Given the description of an element on the screen output the (x, y) to click on. 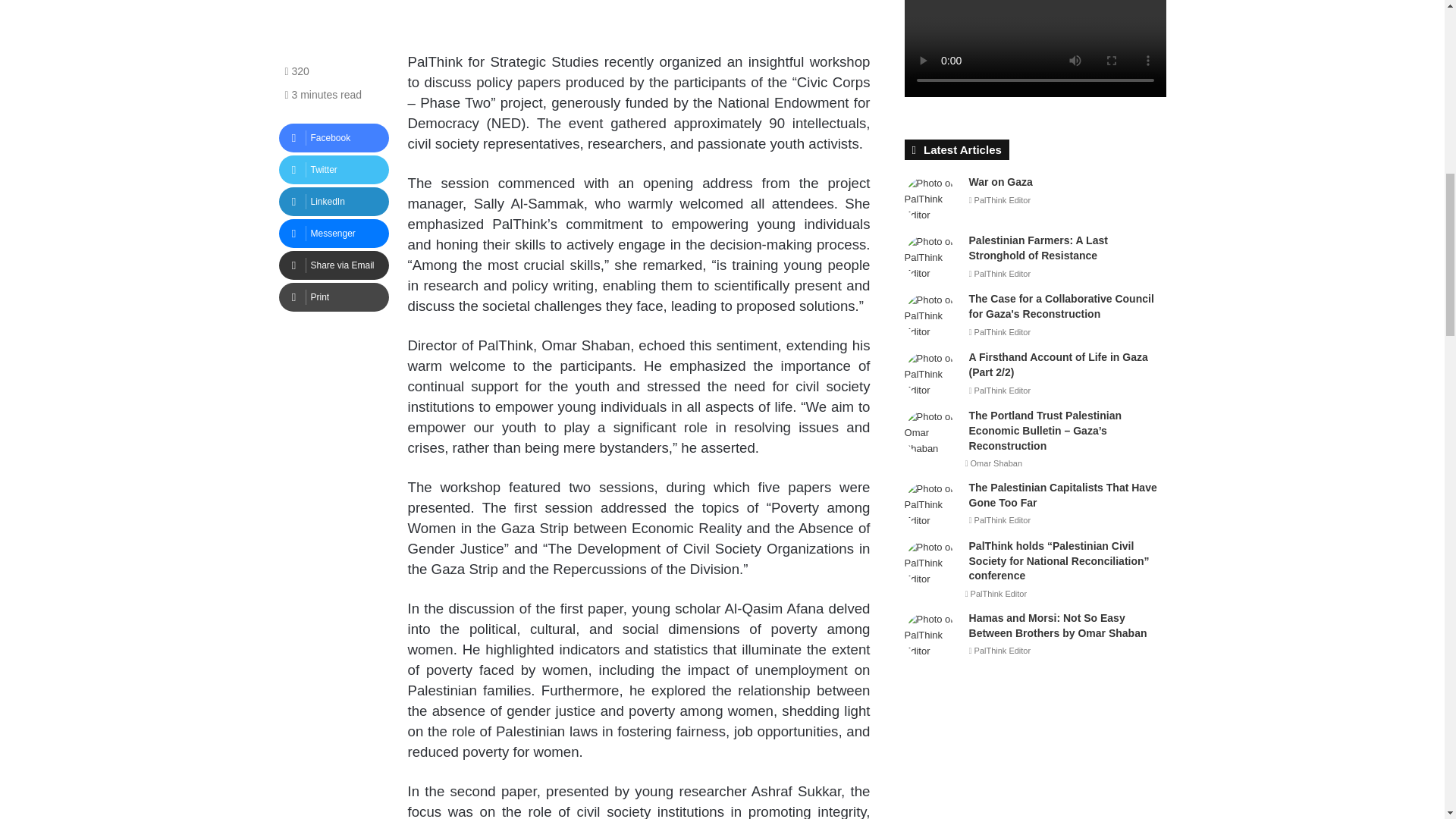
Messenger (333, 233)
Share via Email (333, 265)
LinkedIn (333, 201)
Print (333, 297)
Twitter (333, 169)
Facebook (333, 137)
